Given the description of an element on the screen output the (x, y) to click on. 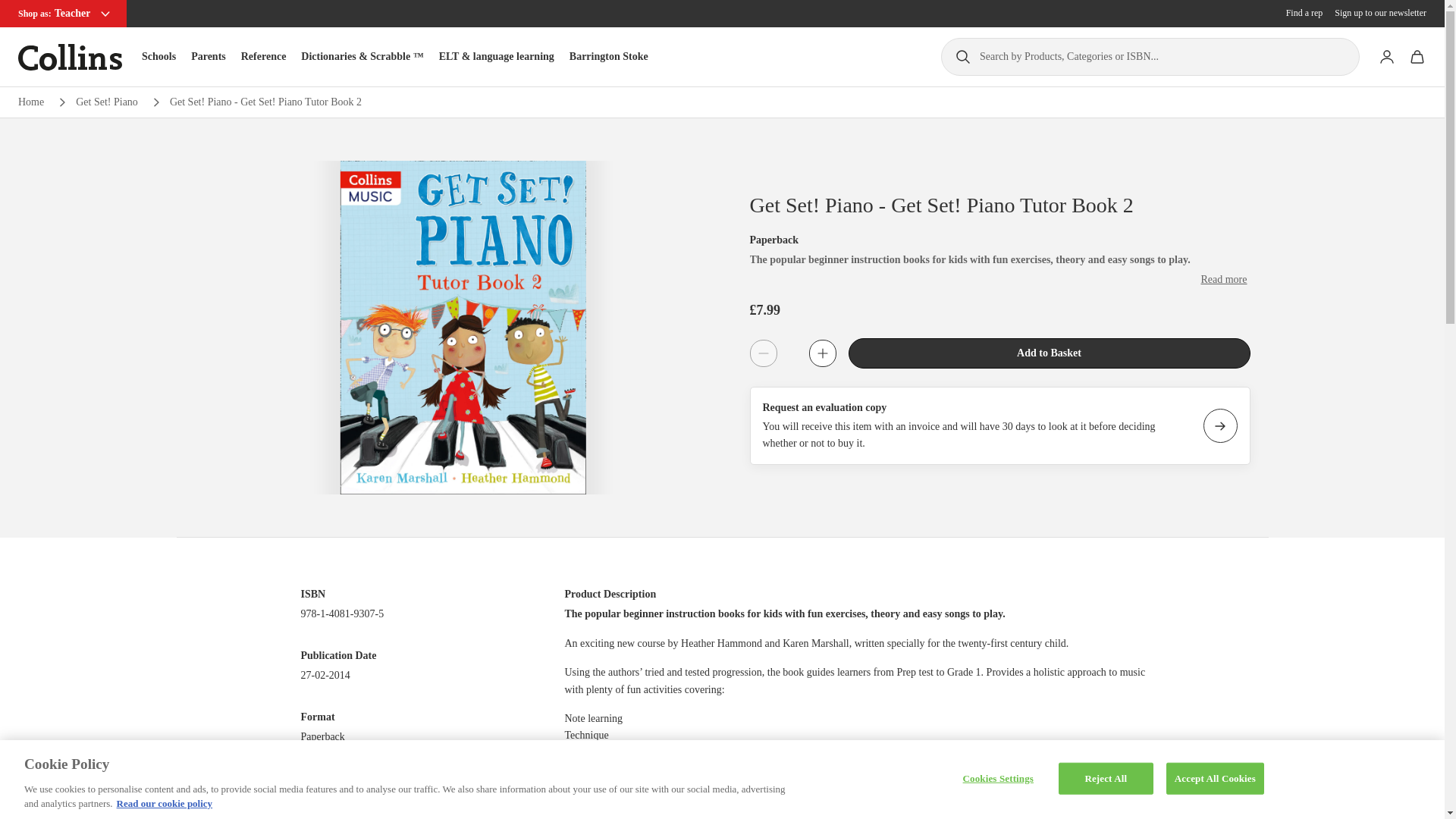
Add to Basket (1048, 353)
Decrease quantity (762, 352)
Parents (208, 56)
Increase quantity (821, 352)
Schools (158, 56)
Read all about Get Set! Piano (106, 102)
Get Set! Piano - Get Set! Piano Tutor Book 2 (265, 102)
Toggle cart (1417, 56)
Reference (264, 56)
Find a rep (1304, 12)
Collins (69, 57)
Read more (1222, 279)
Home (30, 102)
Account (1386, 56)
